Given the description of an element on the screen output the (x, y) to click on. 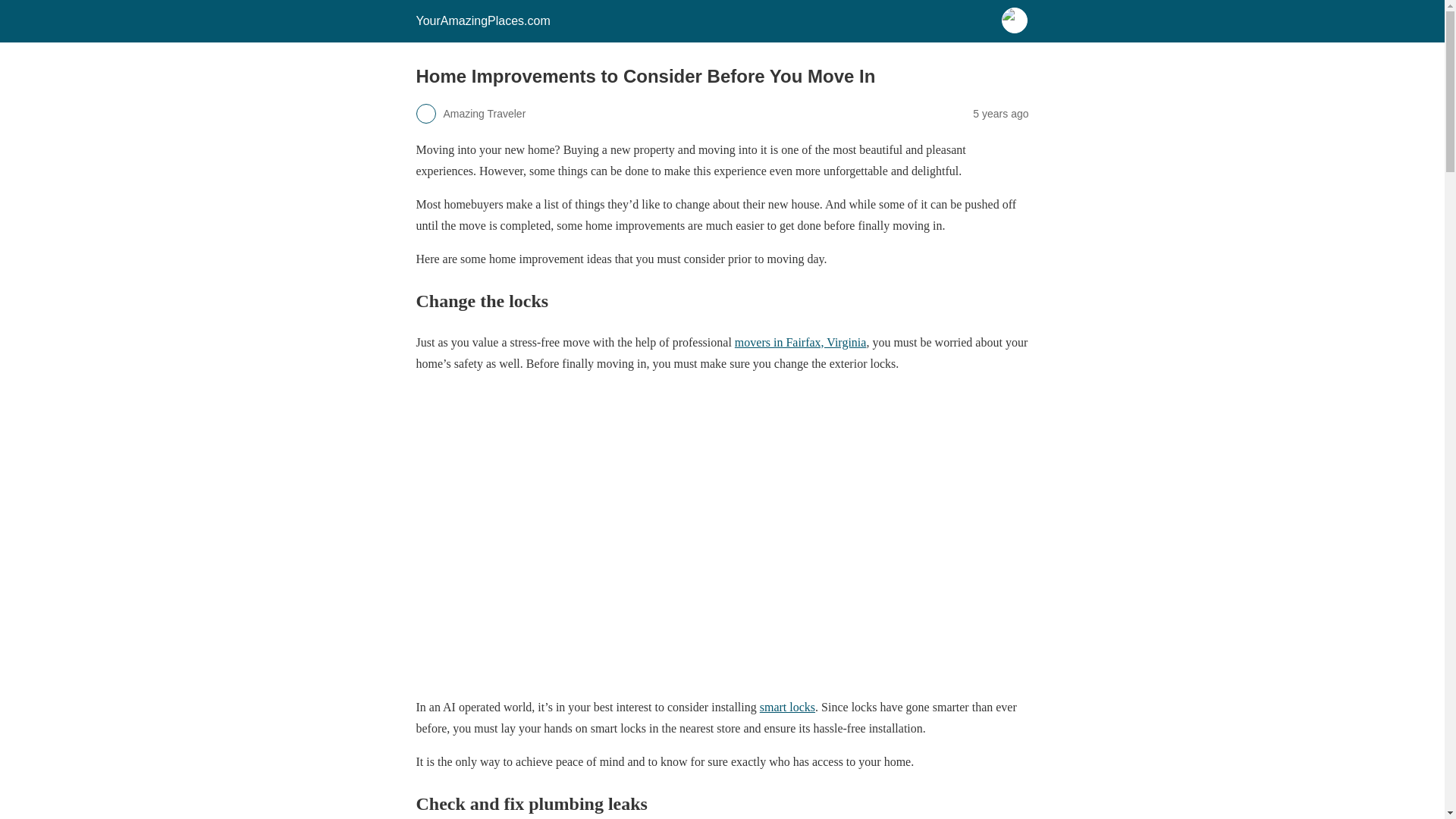
smart locks (787, 707)
movers in Fairfax, Virginia (800, 341)
YourAmazingPlaces.com (482, 20)
